Given the description of an element on the screen output the (x, y) to click on. 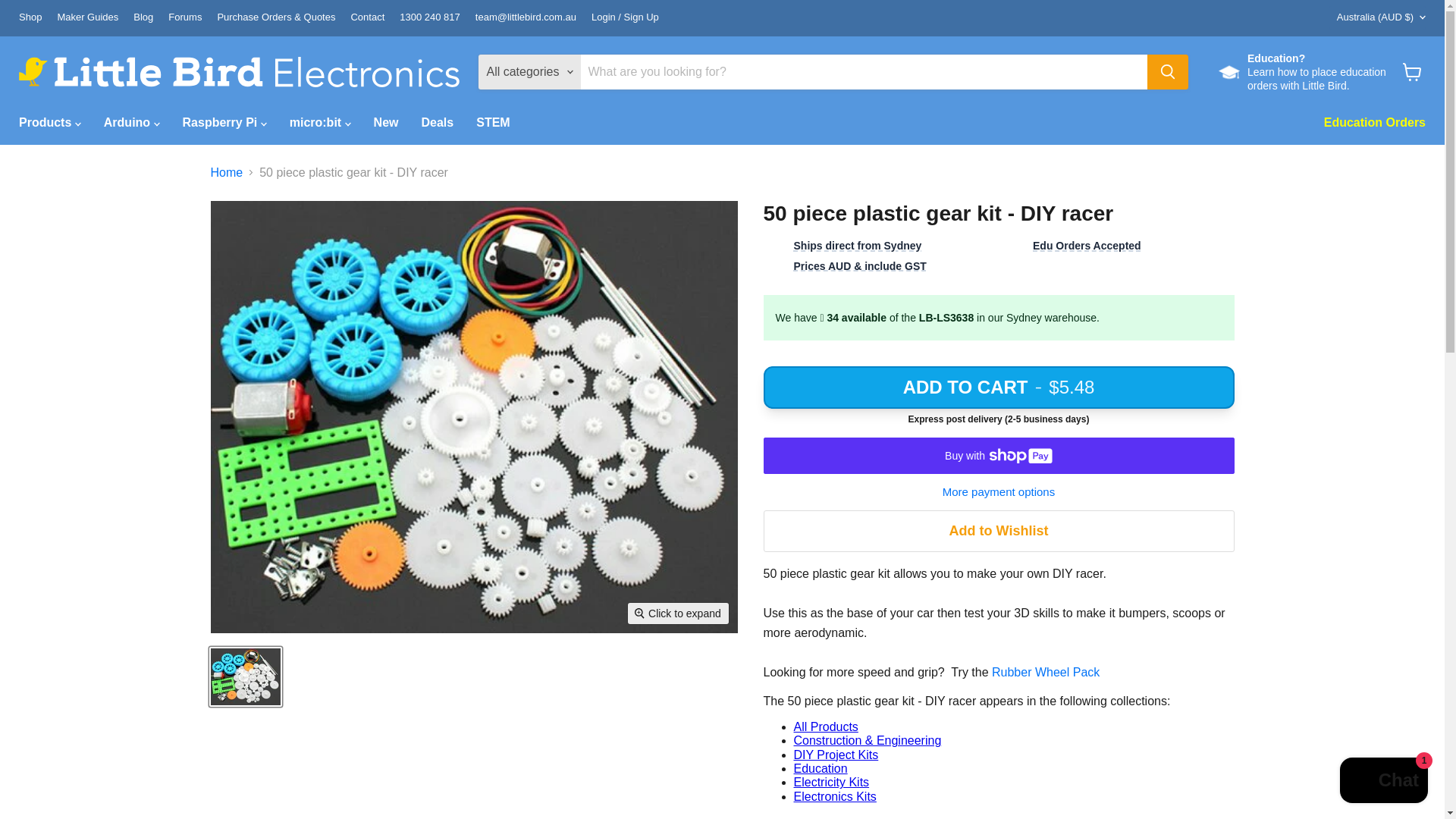
Buy Electronics Kits in Australia (834, 796)
Maker Guides (86, 17)
Contact (367, 17)
1300 240 817 (429, 17)
Buy All Products in Australia (825, 726)
Forums (185, 17)
Shop (30, 17)
Buy DIY Project Kits in Australia (835, 754)
Buy Electricity Kits in Australia (831, 781)
Blog (142, 17)
Buy Education in Australia (820, 768)
